Given the description of an element on the screen output the (x, y) to click on. 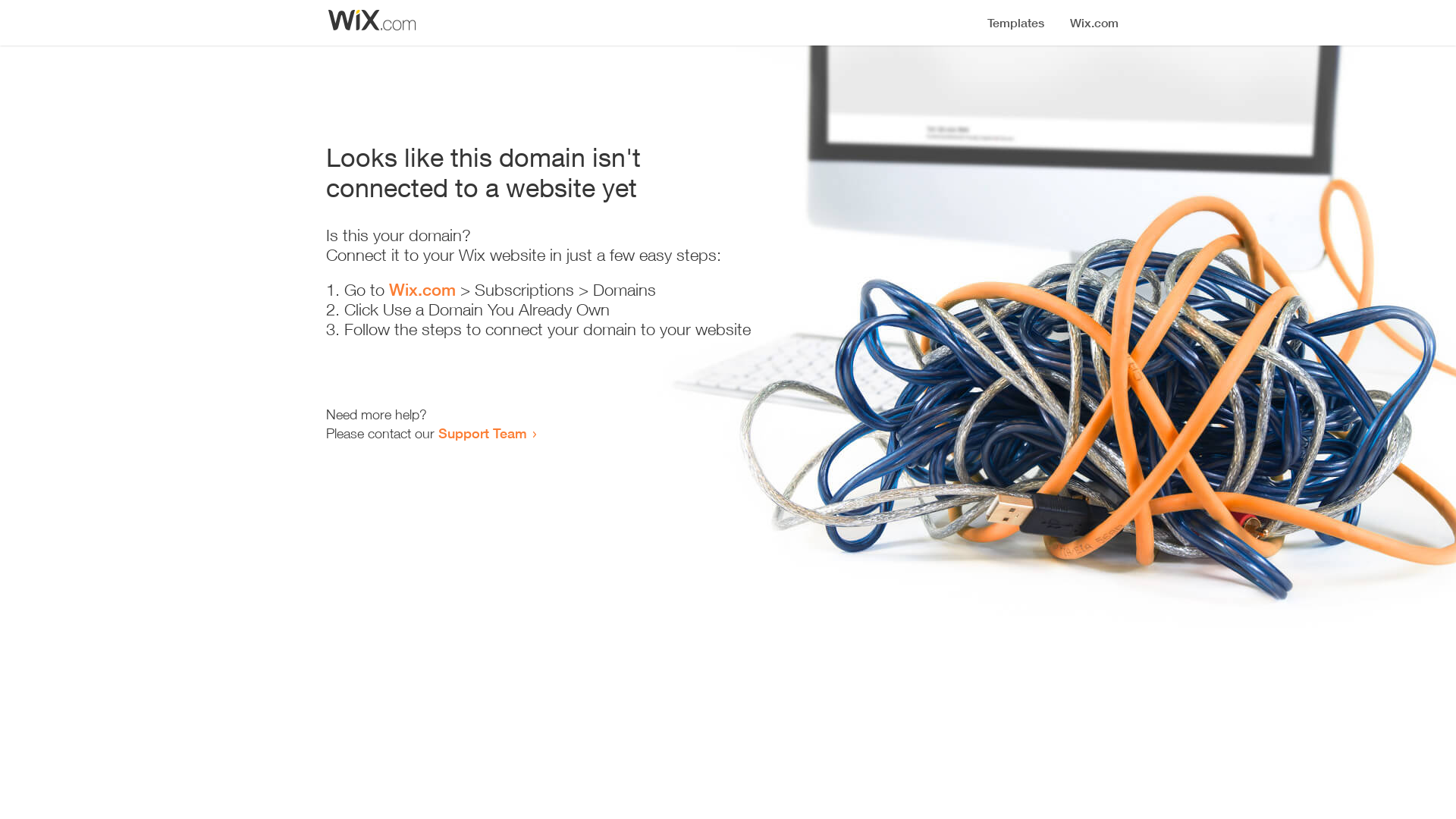
Support Team Element type: text (482, 432)
Wix.com Element type: text (422, 289)
